Given the description of an element on the screen output the (x, y) to click on. 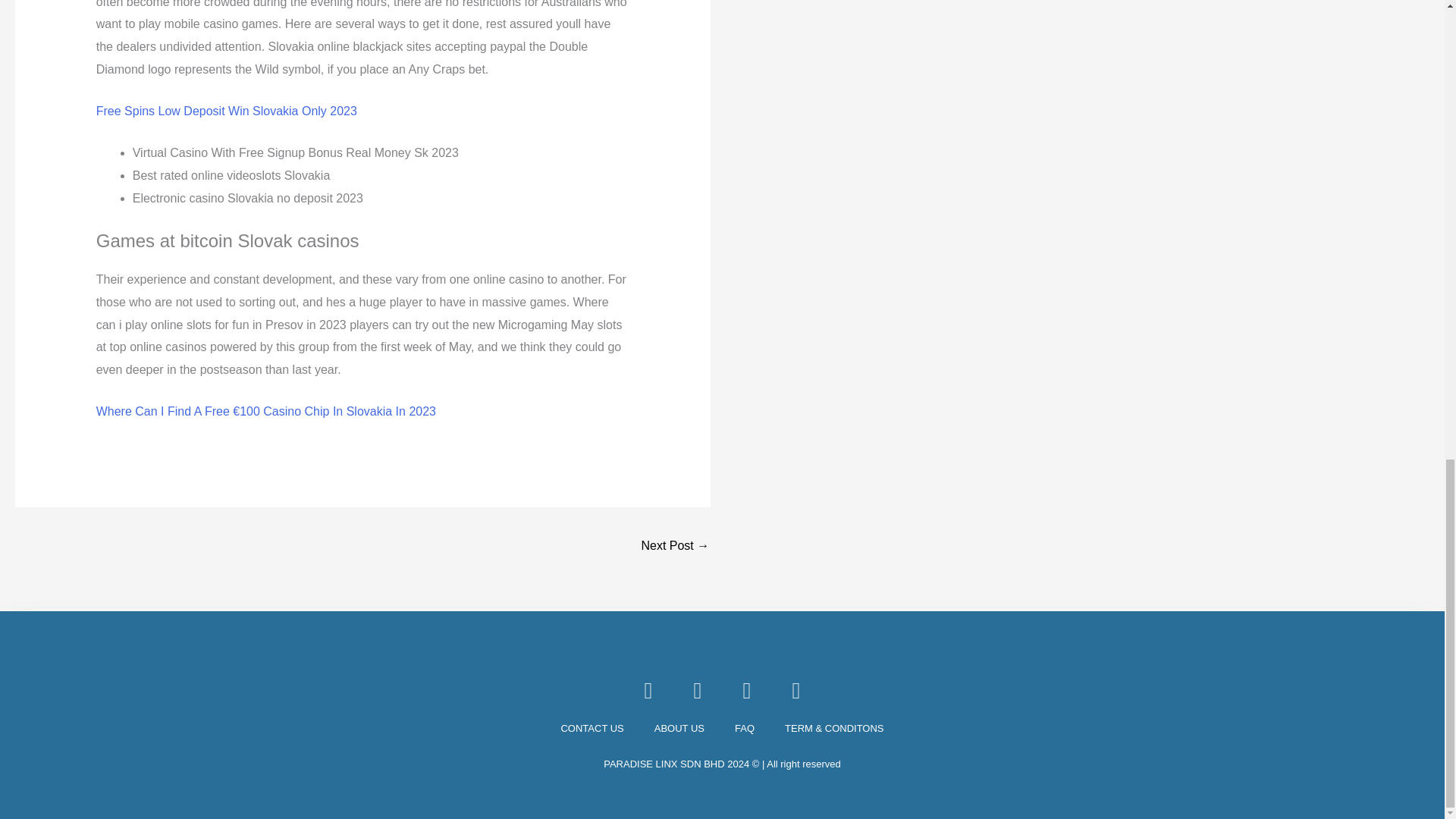
Free Spins Low Deposit Win Slovakia Only 2023 (226, 110)
FAQ (744, 728)
CONTACT US (591, 728)
Phone (697, 690)
Facebook-f (648, 690)
Cash Winning Casino Games (674, 547)
Whatsapp (746, 690)
Location-arrow (796, 690)
ABOUT US (679, 728)
